Given the description of an element on the screen output the (x, y) to click on. 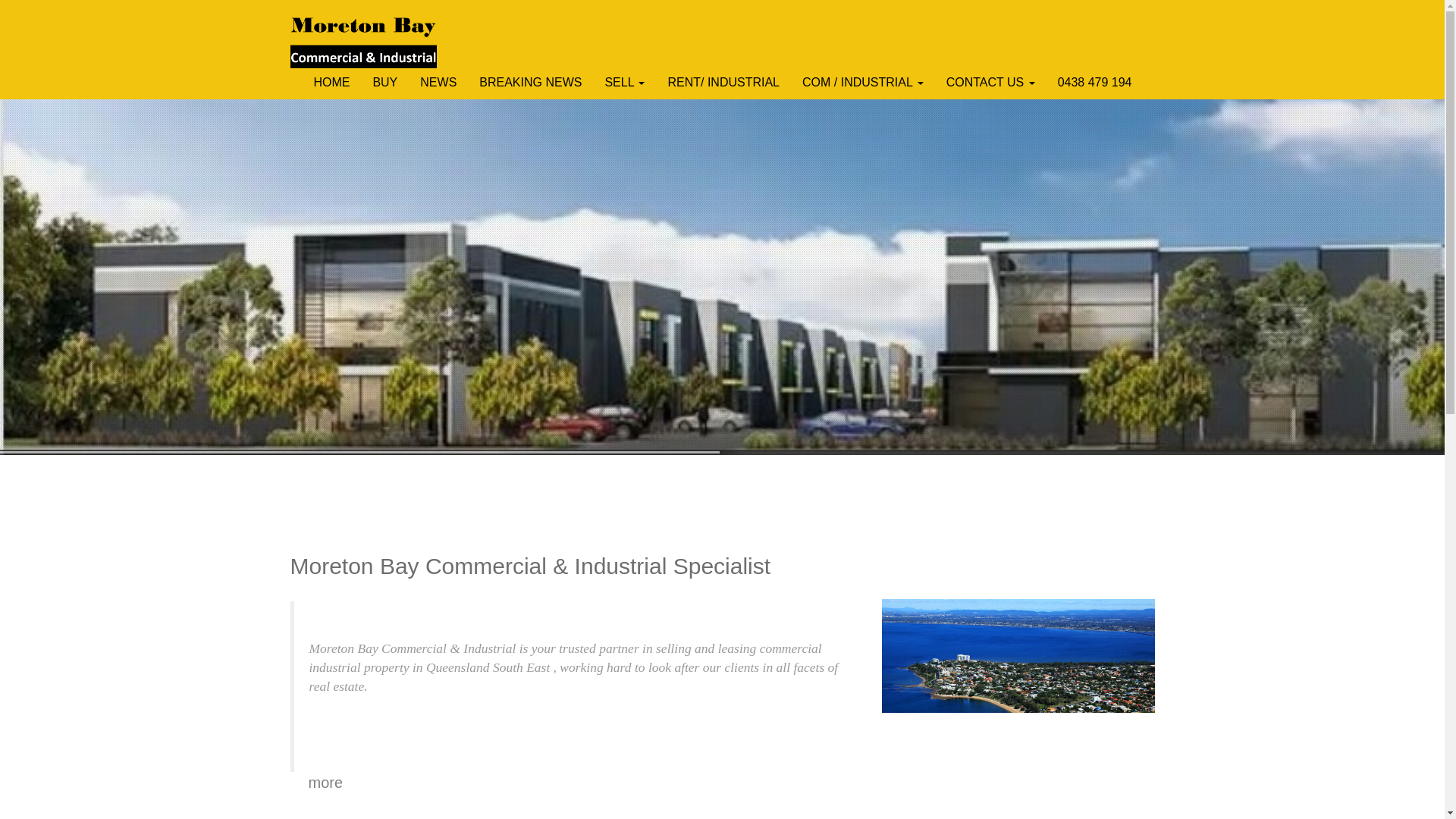
NEWS Element type: text (437, 82)
0438 479 194 Element type: text (1094, 82)
HOME Element type: text (330, 82)
BREAKING NEWS Element type: text (530, 82)
COM / INDUSTRIAL Element type: text (862, 82)
RENT/ INDUSTRIAL Element type: text (722, 82)
BUY Element type: text (384, 82)
SELL Element type: text (624, 82)
more Element type: text (324, 782)
CONTACT US Element type: text (990, 82)
